Given the description of an element on the screen output the (x, y) to click on. 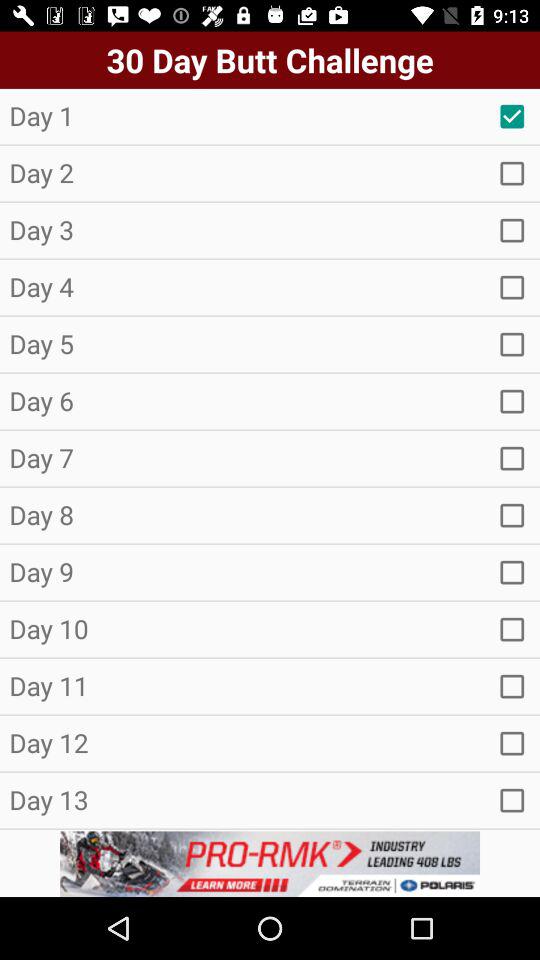
select button (512, 686)
